Given the description of an element on the screen output the (x, y) to click on. 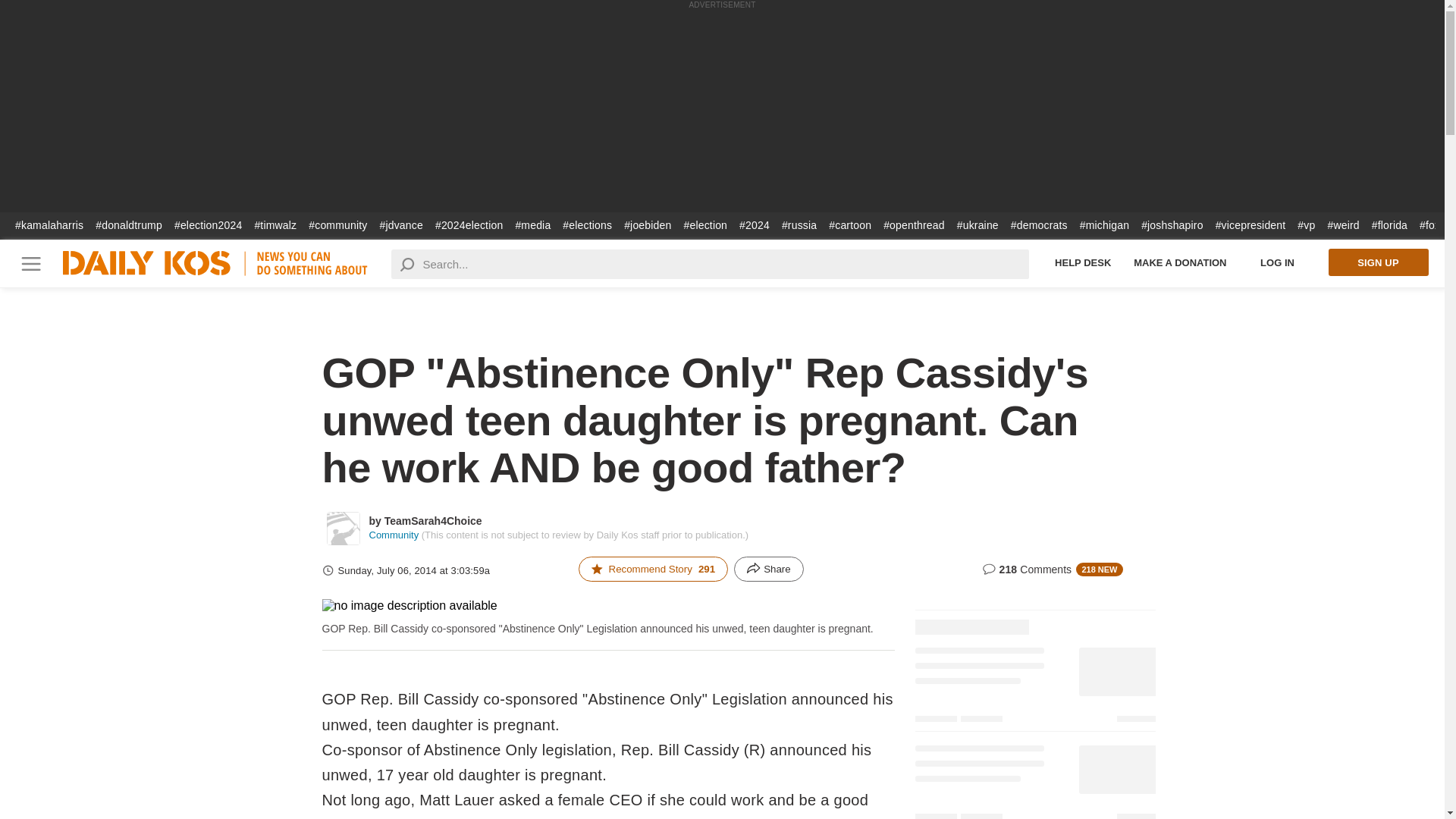
Loading... (1034, 617)
MAKE A DONATION (1179, 262)
Make a Donation (1179, 262)
Help Desk (1082, 262)
Loading... (1034, 778)
Loading... (1034, 686)
